Given the description of an element on the screen output the (x, y) to click on. 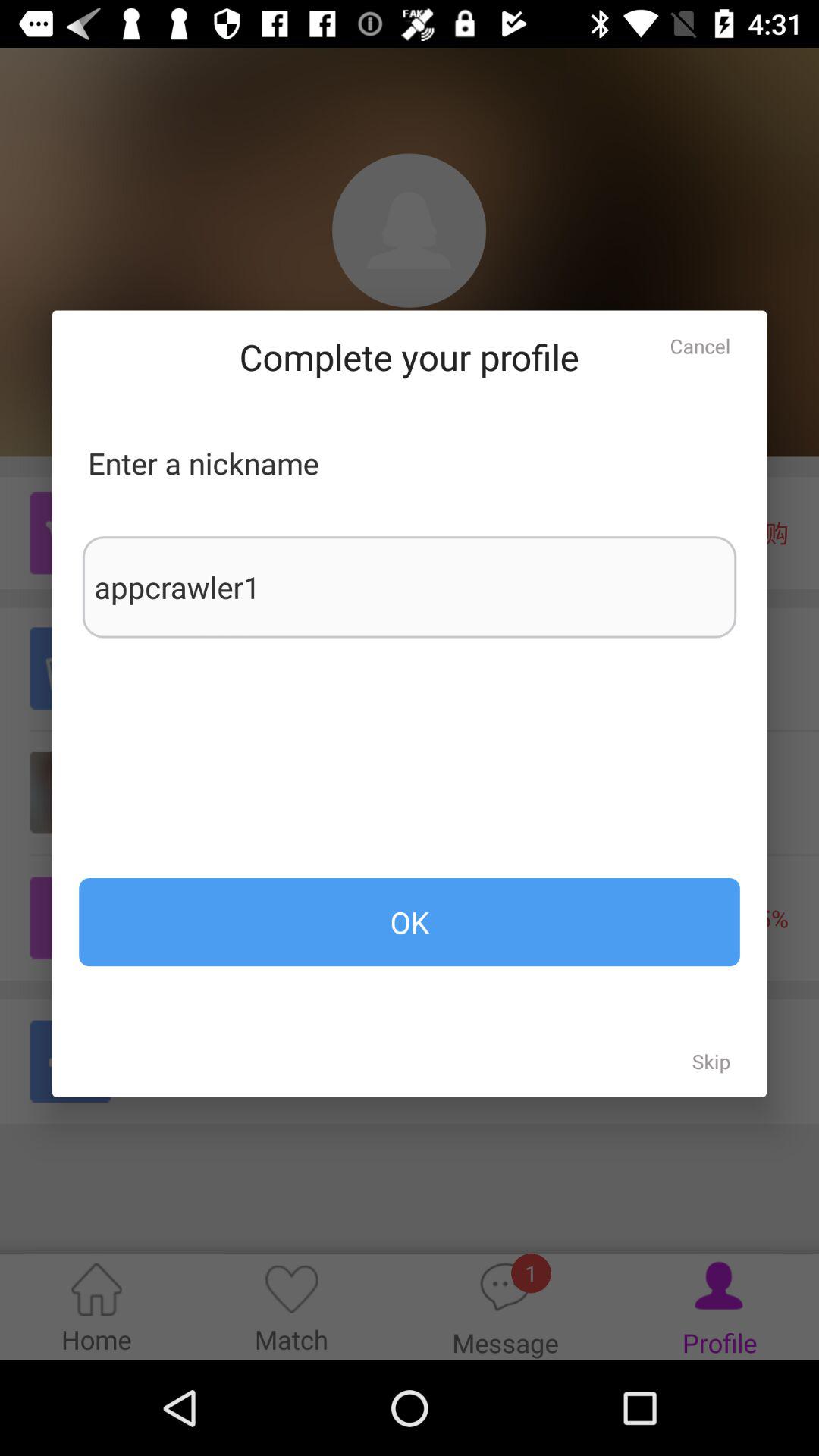
press item at the bottom right corner (711, 1061)
